Given the description of an element on the screen output the (x, y) to click on. 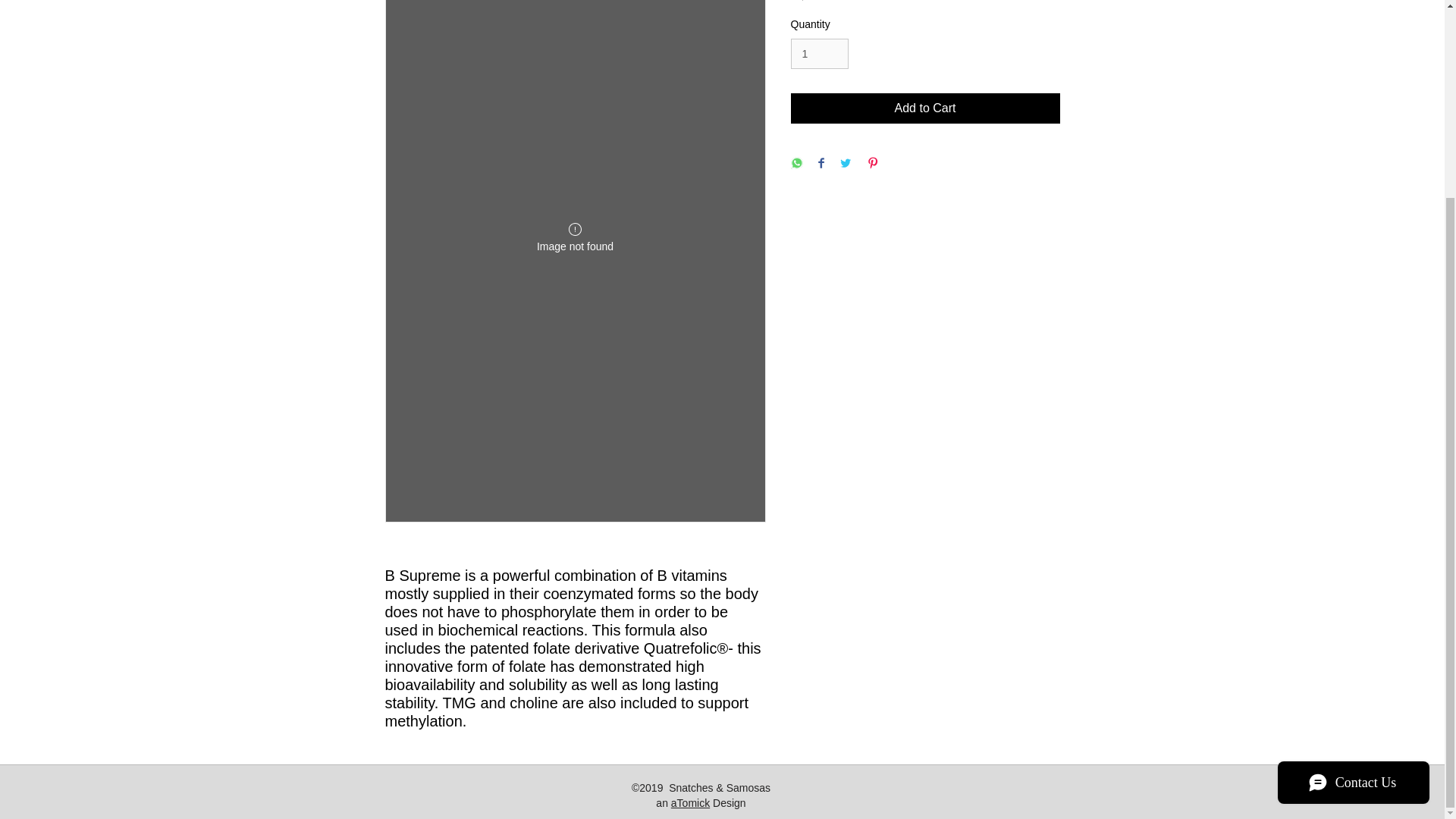
Add to Cart (924, 108)
aTomick (690, 802)
1 (818, 53)
